Given the description of an element on the screen output the (x, y) to click on. 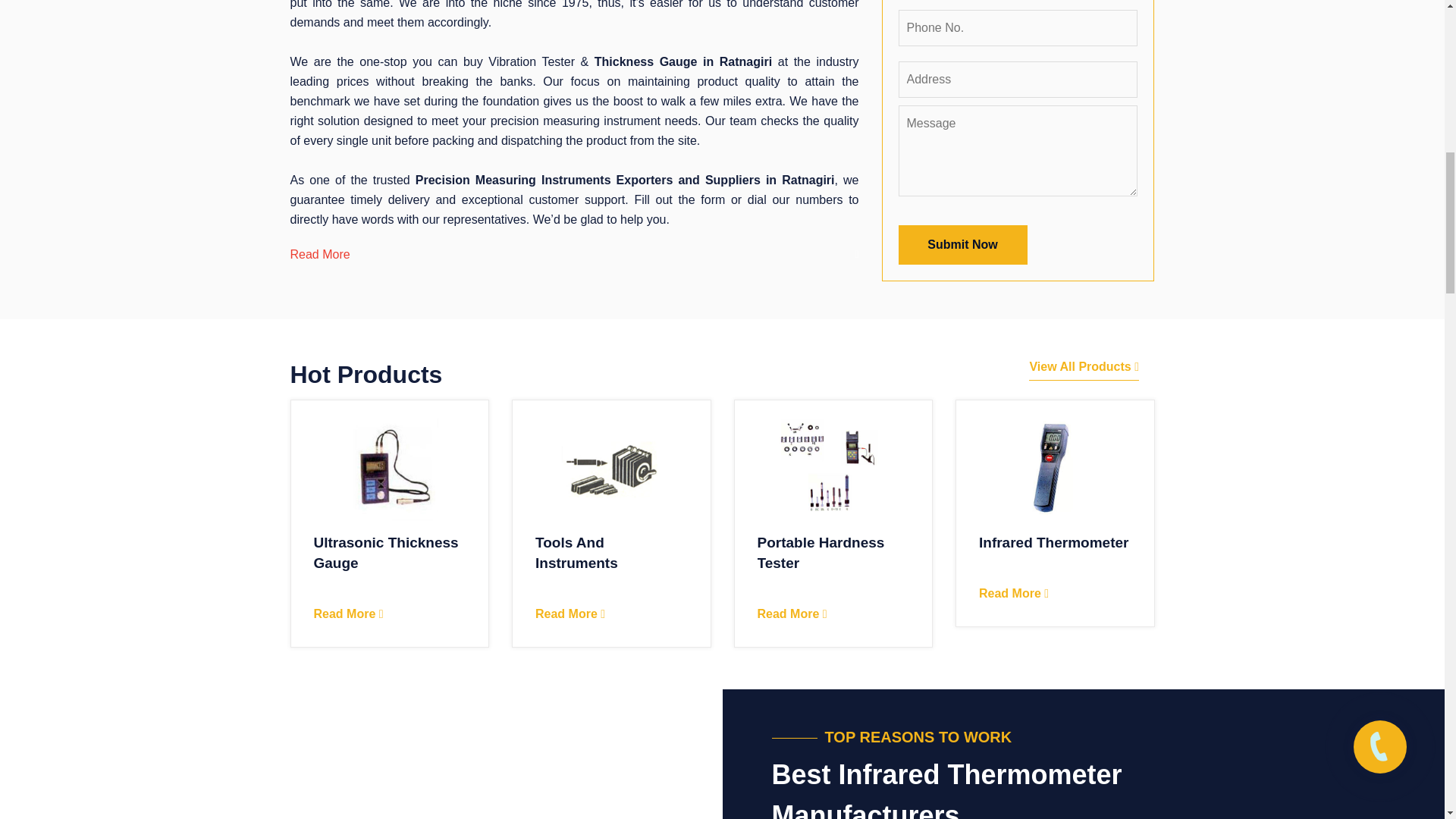
View All Products (1083, 366)
Ultrasonic Thickness Gauge (386, 552)
submit now (962, 244)
Read More (349, 613)
Read More (319, 254)
submit now (962, 244)
Tools And Instruments (576, 552)
Read More (570, 613)
